Given the description of an element on the screen output the (x, y) to click on. 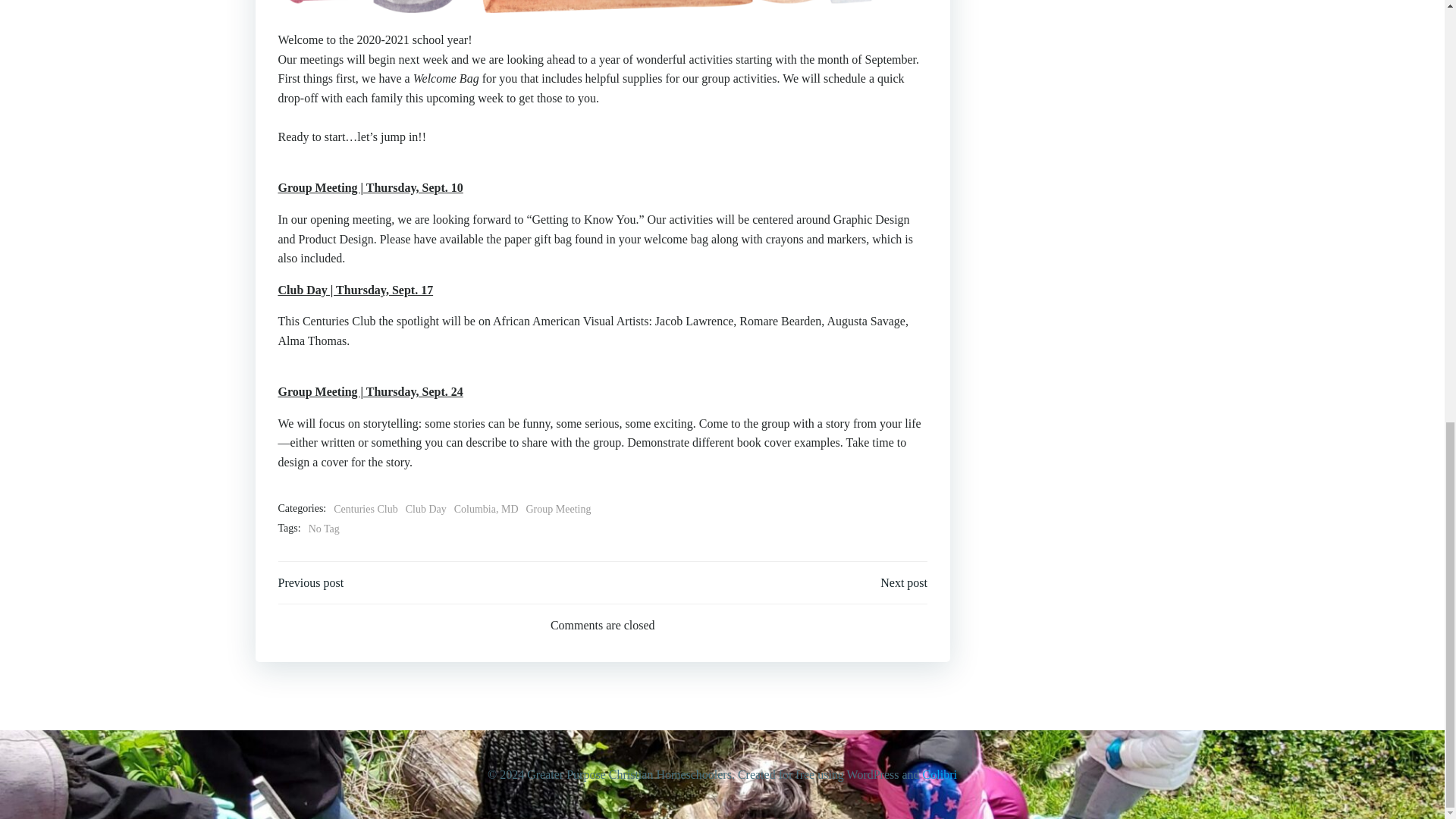
Next post (903, 583)
Colibri (939, 774)
Previous post (310, 583)
Columbia, MD (486, 509)
Group Meeting (558, 509)
Centuries Club (365, 509)
Club Day (426, 509)
